Given the description of an element on the screen output the (x, y) to click on. 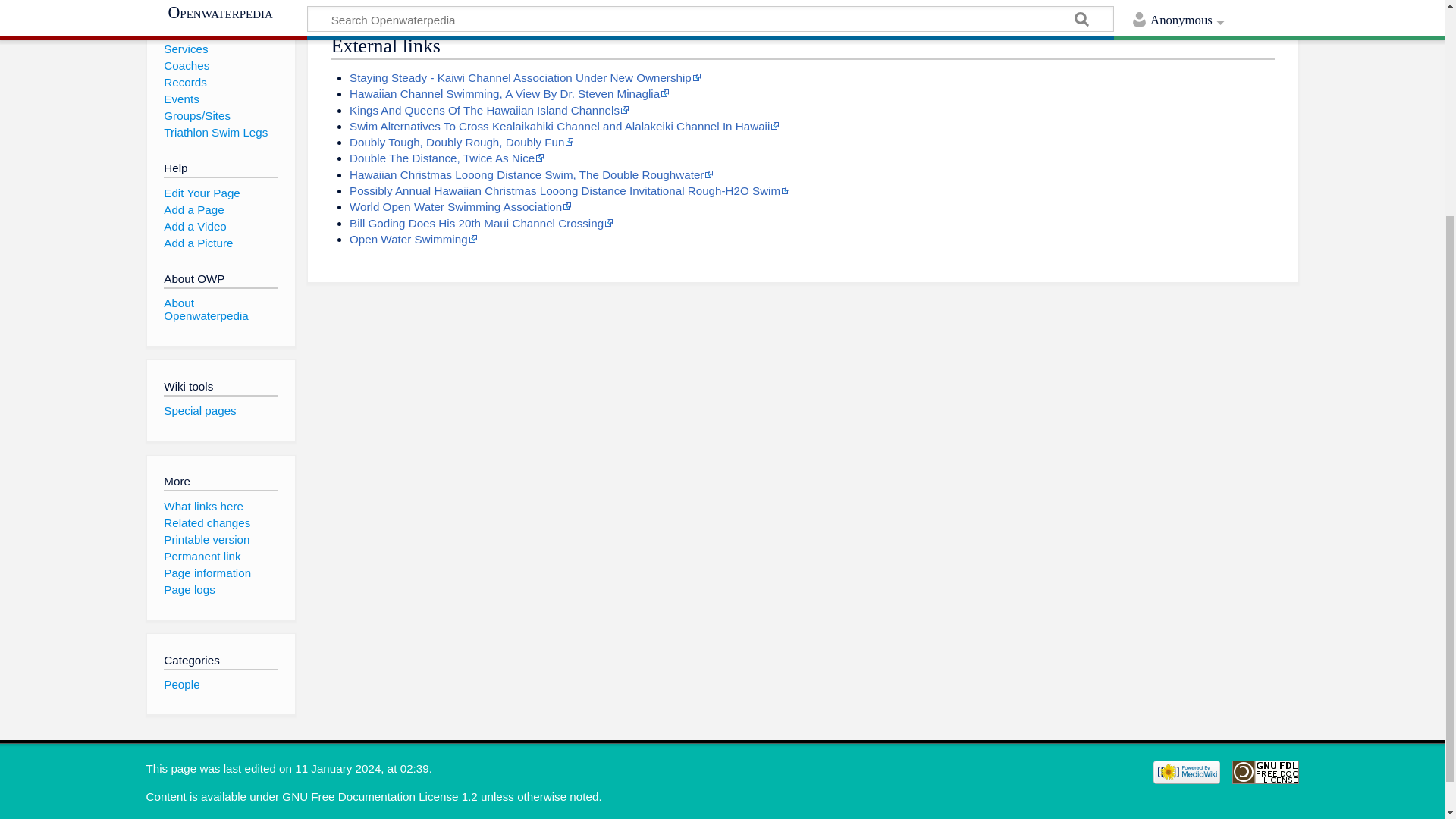
Kings And Queens Of The Hawaiian Island Channels (488, 110)
Ka'iwi Channel Association (758, 1)
World Open Water Swimming Association (460, 205)
Bill Goding Does His 20th Maui Channel Crossing (480, 223)
Molokai Channel (973, 1)
crossings (871, 1)
Open Water Swimming (413, 238)
Hawaiian Channel Swimming, A View By Dr. Steven Minaglia (509, 92)
Double The Distance, Twice As Nice (446, 157)
Doubly Tough, Doubly Rough, Doubly Fun (461, 141)
